Given the description of an element on the screen output the (x, y) to click on. 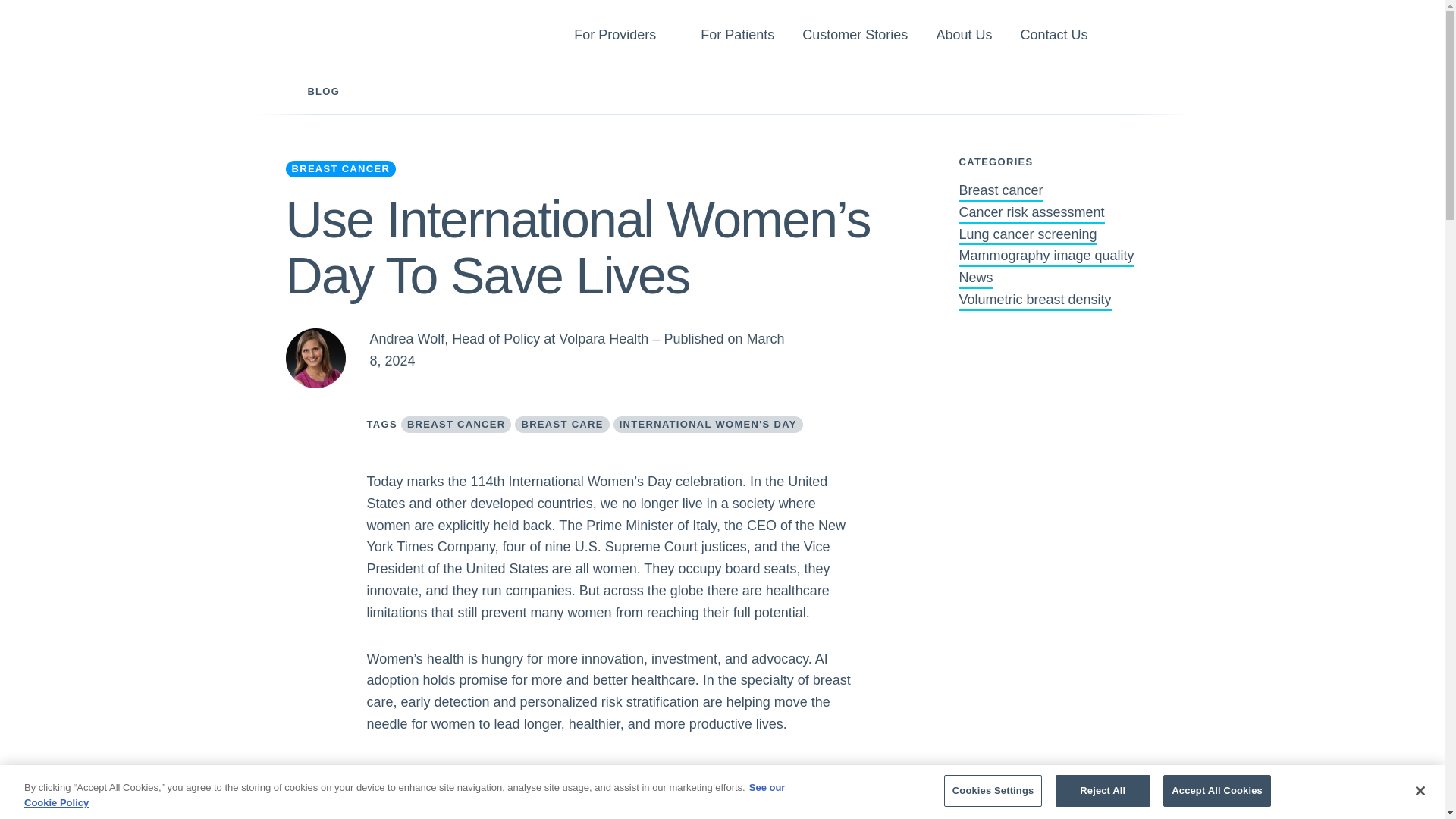
Volpara Health company logo (345, 33)
About Us (963, 37)
Customer Stories (854, 37)
For Providers (614, 37)
Magnifying glass (1137, 37)
Magnifying glass (1137, 35)
Contact Us (1053, 37)
For Patients (737, 37)
Volpara Health company logo (345, 33)
